Given the description of an element on the screen output the (x, y) to click on. 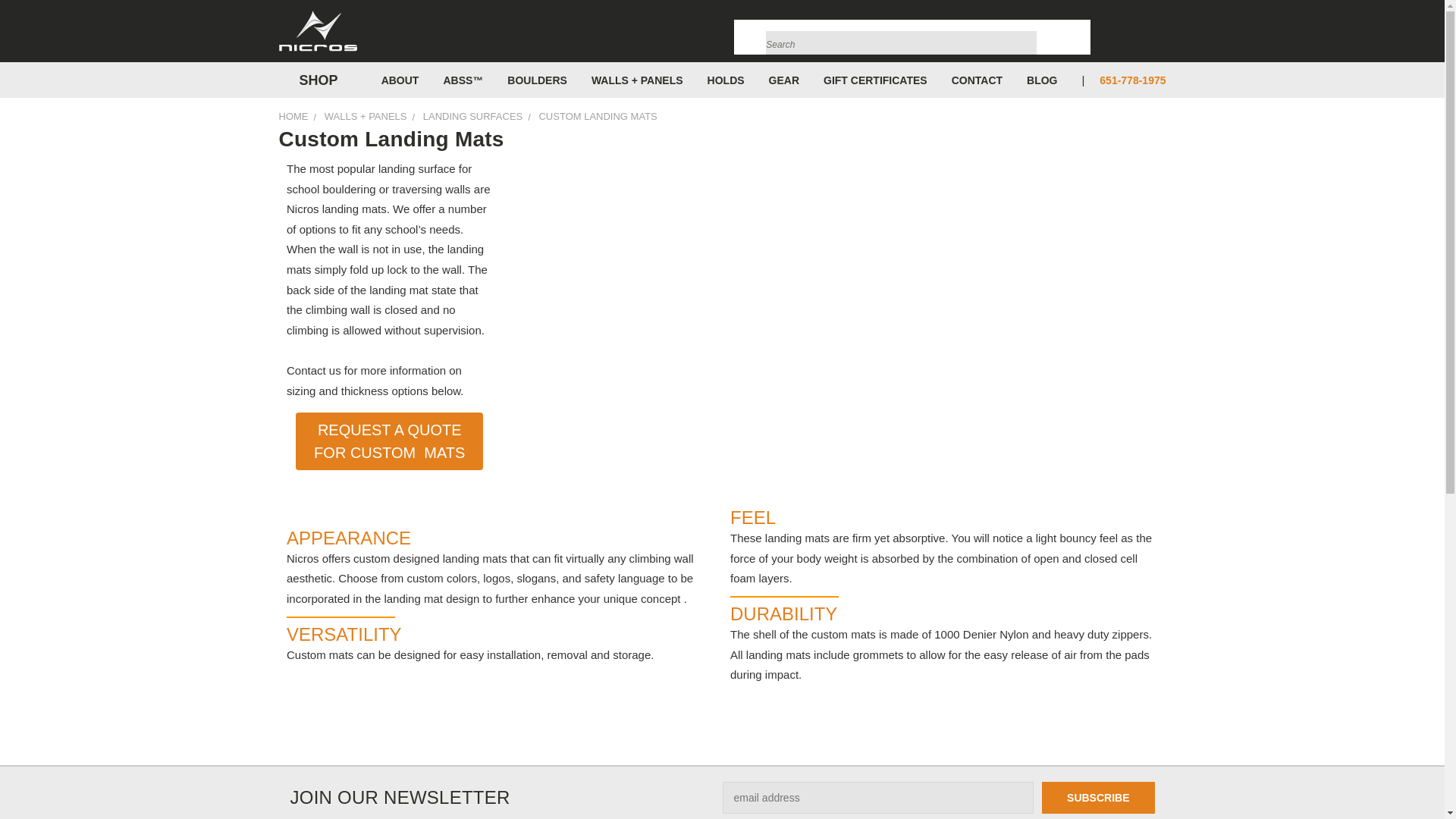
Submit Search (1024, 32)
Cart (1161, 34)
Subscribe (1098, 798)
Gift Certificates (1135, 34)
Nicros (317, 30)
User Toolbox (1105, 34)
SHOP (314, 79)
